Given the description of an element on the screen output the (x, y) to click on. 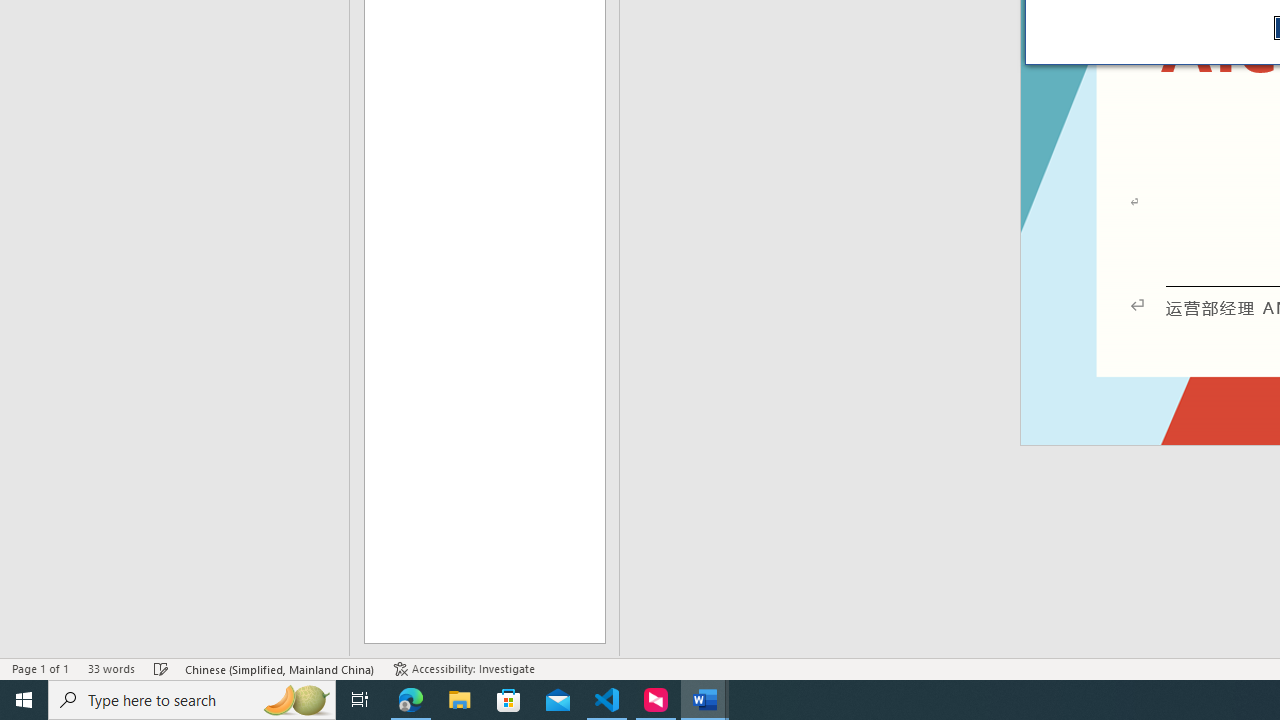
Page Number Page 1 of 1 (39, 668)
Search highlights icon opens search home window (295, 699)
Language Chinese (Simplified, Mainland China) (279, 668)
Microsoft Edge - 1 running window (411, 699)
Accessibility Checker Accessibility: Investigate (464, 668)
Task View (359, 699)
File Explorer (460, 699)
Microsoft Store (509, 699)
Word - 2 running windows (704, 699)
Type here to search (191, 699)
Visual Studio Code - 1 running window (607, 699)
Spelling and Grammar Check Checking (161, 668)
